Given the description of an element on the screen output the (x, y) to click on. 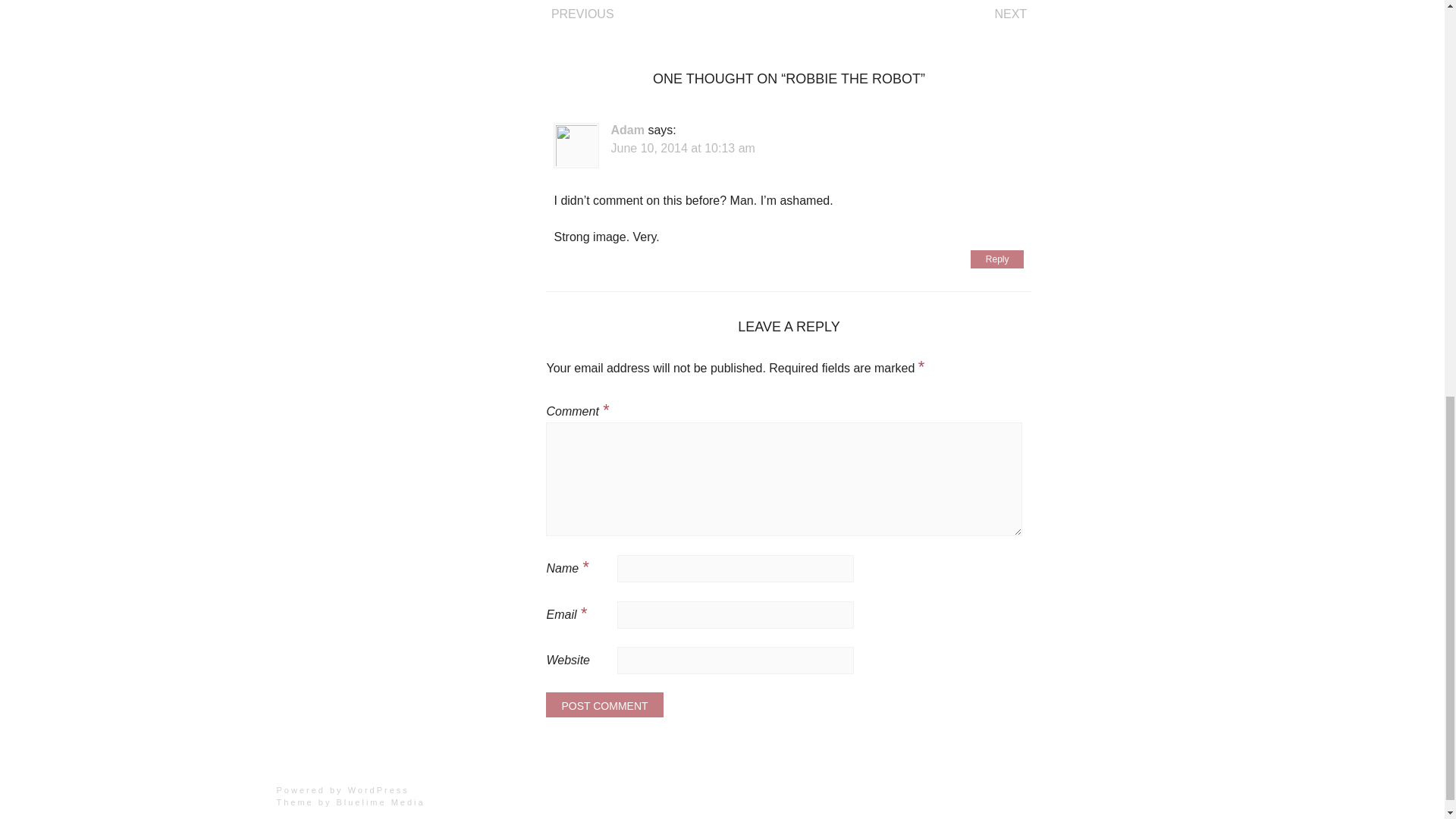
NEXT (1010, 13)
Powered by WordPress (342, 789)
Post Comment (604, 704)
PREVIOUS (582, 13)
Bluelime Media (380, 801)
June 10, 2014 at 10:13 am (682, 147)
Reply (998, 259)
Post Comment (604, 704)
Adam (626, 129)
